Given the description of an element on the screen output the (x, y) to click on. 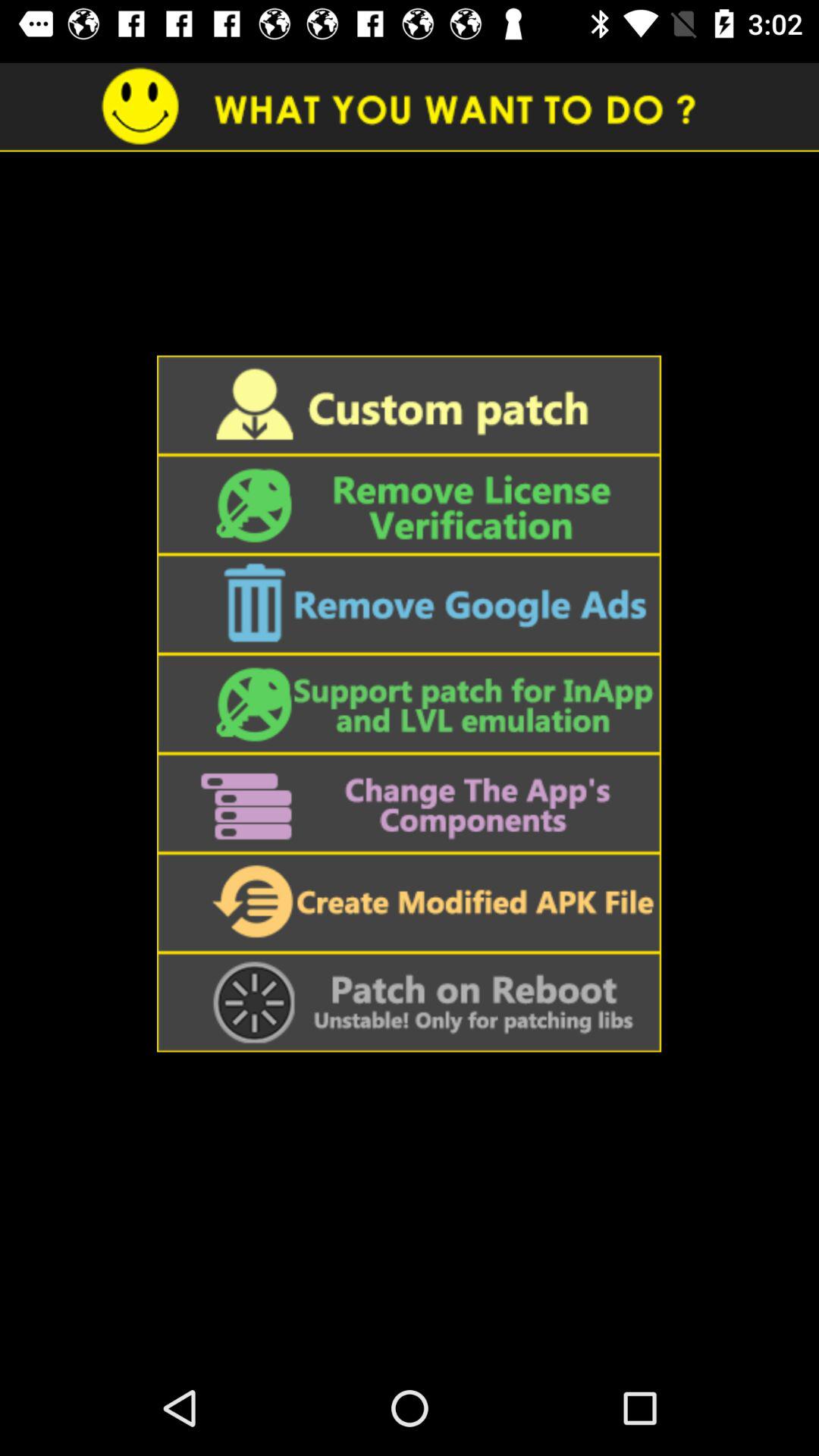
select menu option (408, 1002)
